Given the description of an element on the screen output the (x, y) to click on. 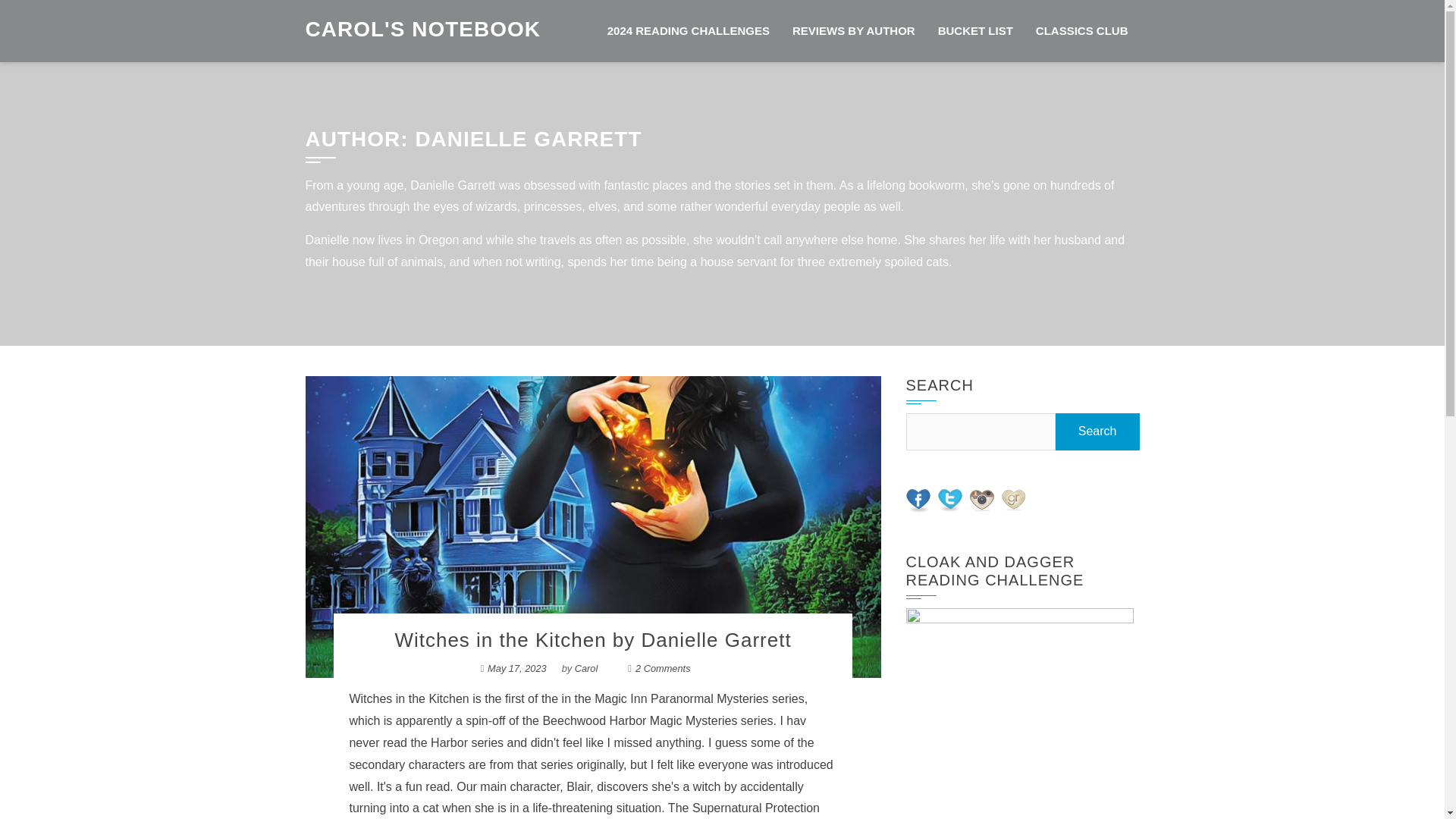
CAROL'S NOTEBOOK (422, 28)
Search (1097, 431)
Follow Me on Facebook (917, 500)
Witches in the Kitchen by Danielle Garrett (592, 639)
BUCKET LIST (975, 31)
Search (1097, 431)
2 Comments (662, 668)
REVIEWS BY AUTHOR (853, 31)
Carol (586, 668)
May 17, 2023 (517, 668)
